Given the description of an element on the screen output the (x, y) to click on. 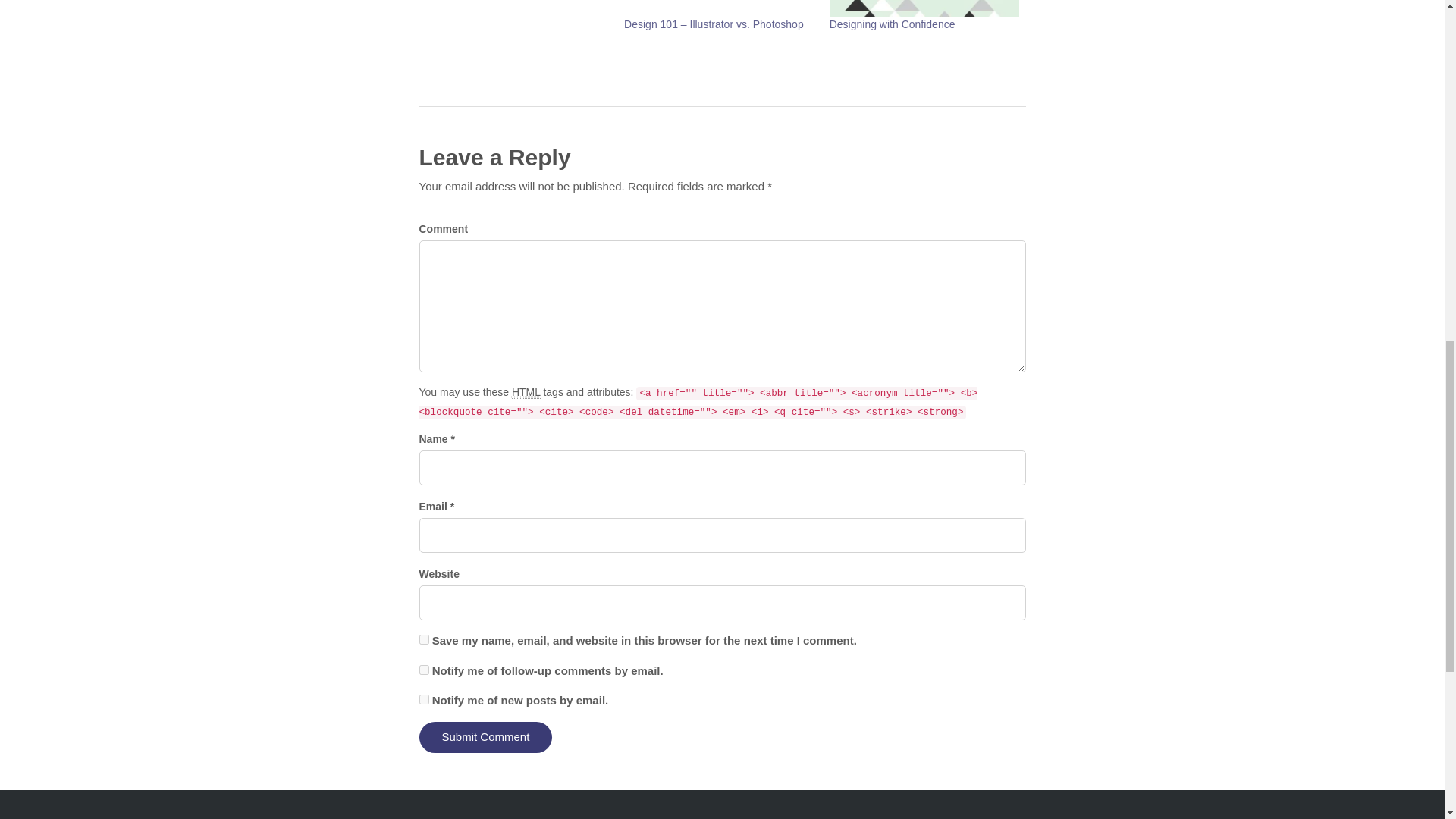
HyperText Markup Language (526, 391)
Designing with Confidence (892, 24)
Designing with Confidence (892, 24)
subscribe (423, 669)
subscribe (423, 699)
Submit Comment (485, 736)
yes (423, 639)
Submit Comment (485, 736)
Designing with Confidence (924, 8)
